Given the description of an element on the screen output the (x, y) to click on. 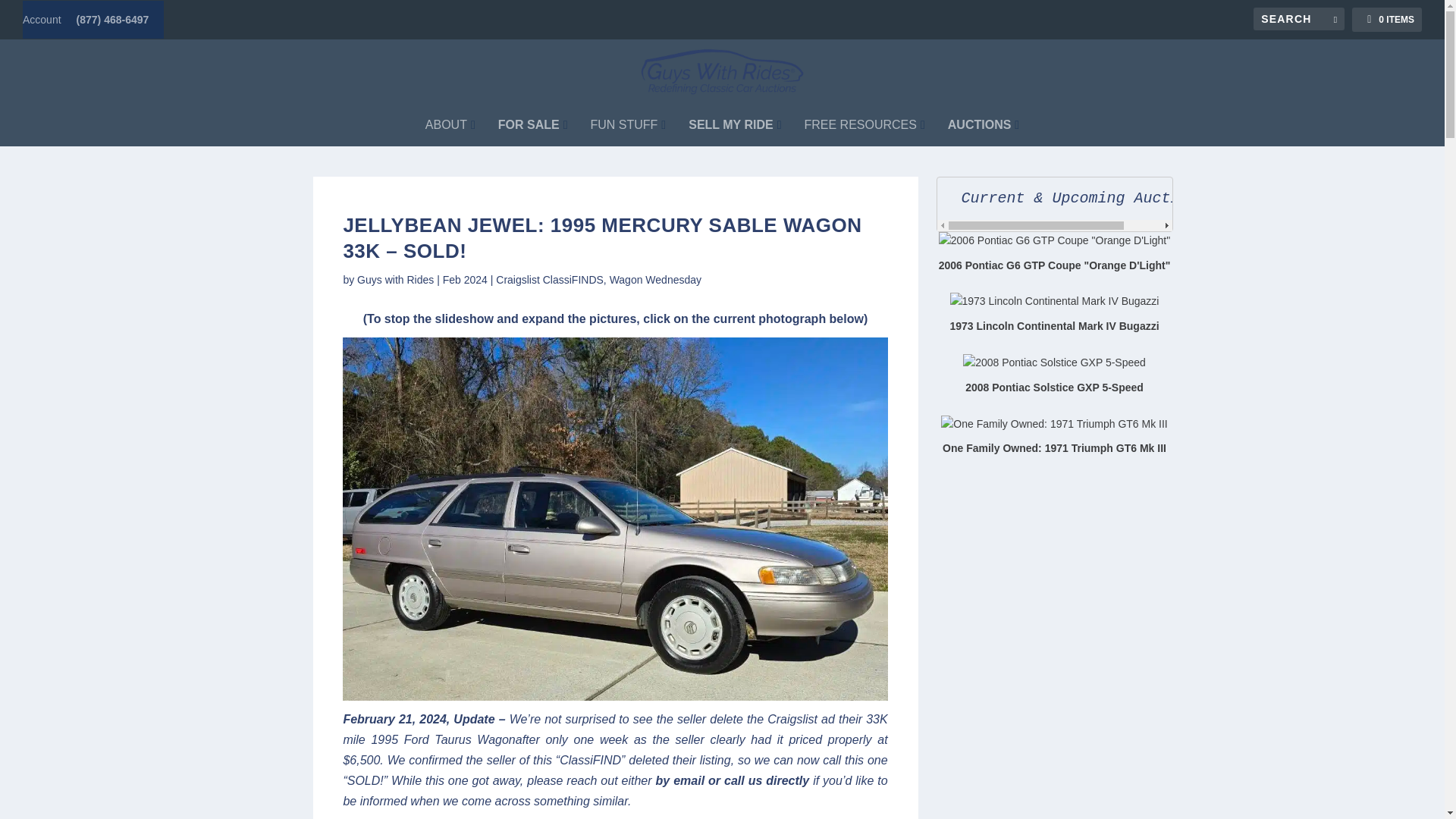
0 Items in Cart (1387, 19)
Search for: (1298, 18)
Craigslist ClassiFINDS (550, 279)
SELL MY RIDE (734, 125)
Posts by Guys with Rides (394, 279)
AUCTIONS (983, 125)
0 ITEMS (1387, 19)
FOR SALE (532, 125)
Guys with Rides (394, 279)
Account (42, 19)
